Given the description of an element on the screen output the (x, y) to click on. 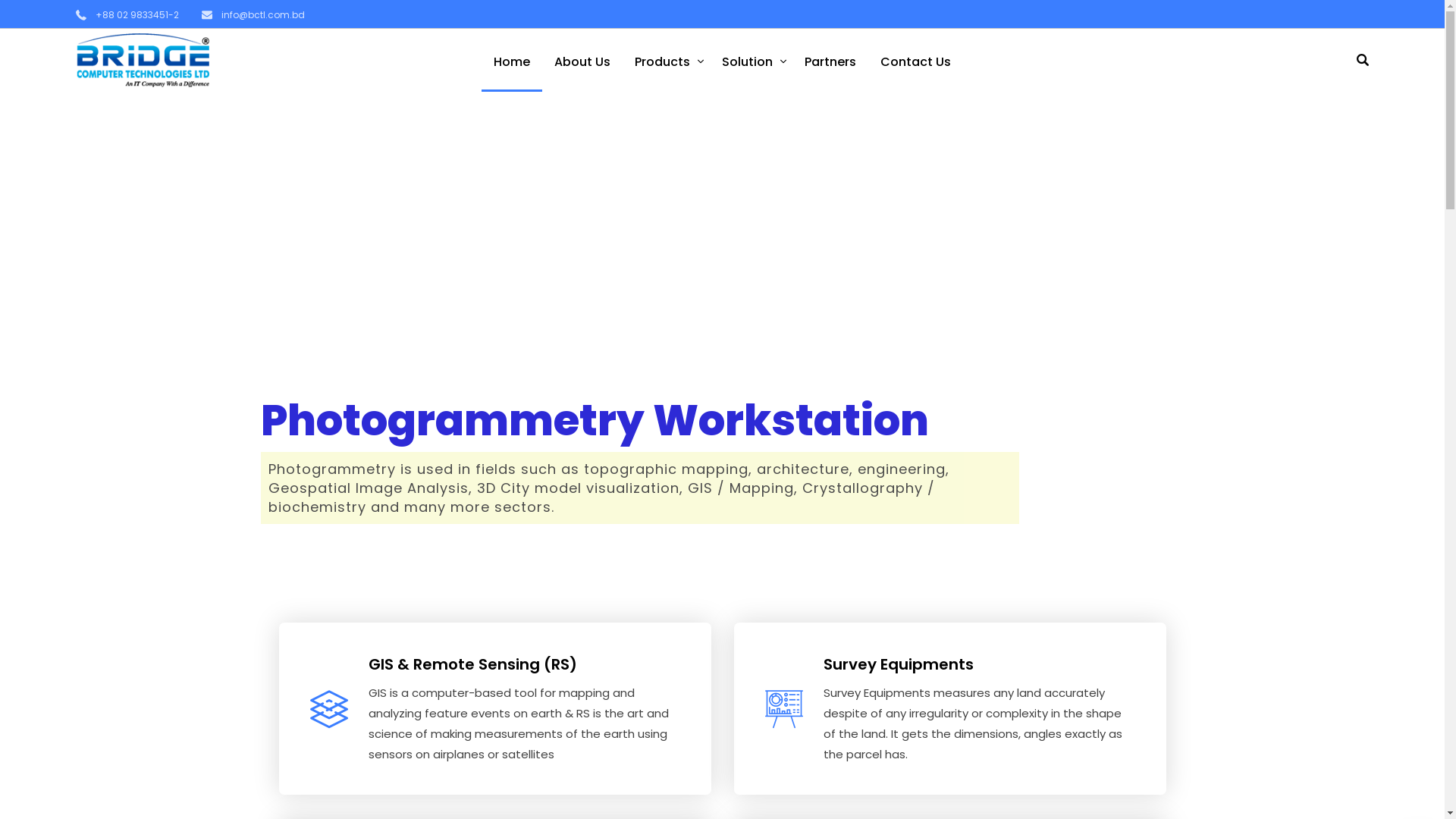
Products Element type: text (665, 59)
Contact Us Element type: text (915, 59)
Home Element type: text (511, 59)
Partners Element type: text (830, 59)
info@bctl.com.bd Element type: text (252, 14)
Solution Element type: text (750, 59)
+88 02 9833451-2 Element type: text (126, 14)
About Us Element type: text (582, 59)
